Given the description of an element on the screen output the (x, y) to click on. 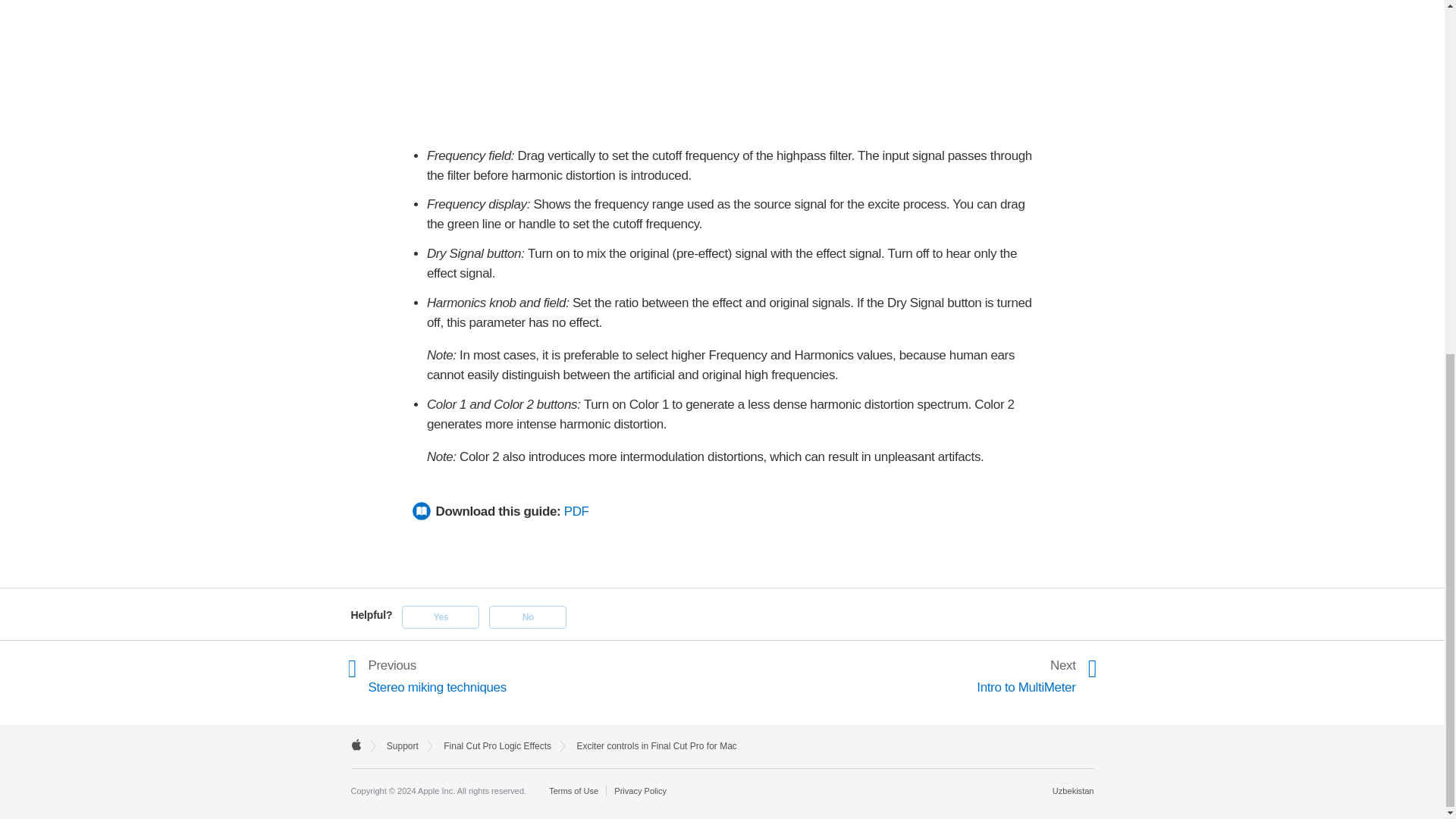
Solved my problem (440, 617)
Not helpful (527, 617)
Choose your country or region (1073, 790)
